Given the description of an element on the screen output the (x, y) to click on. 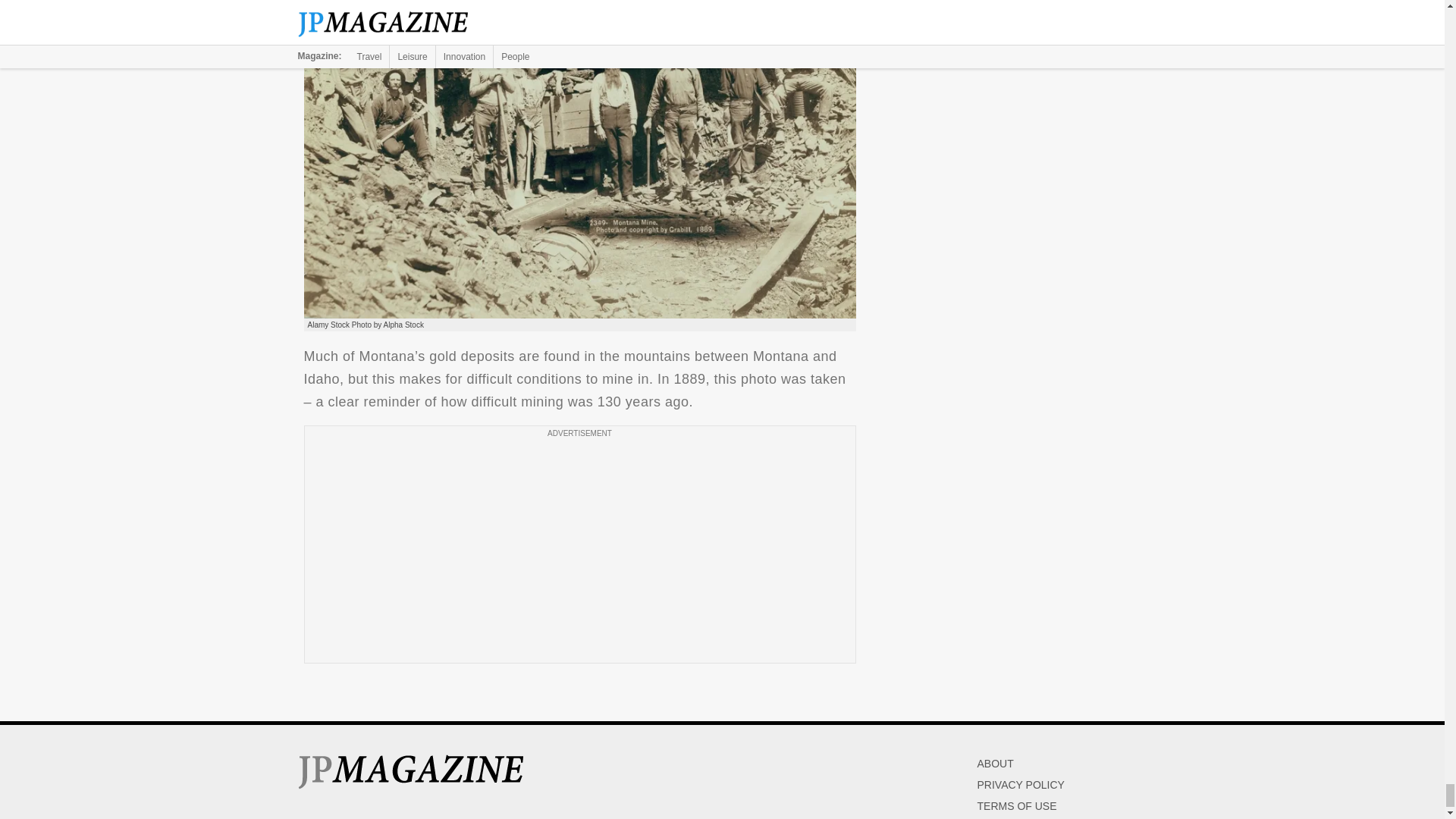
PRIVACY POLICY (1020, 784)
TERMS OF USE (1016, 806)
ABOUT (994, 763)
